Given the description of an element on the screen output the (x, y) to click on. 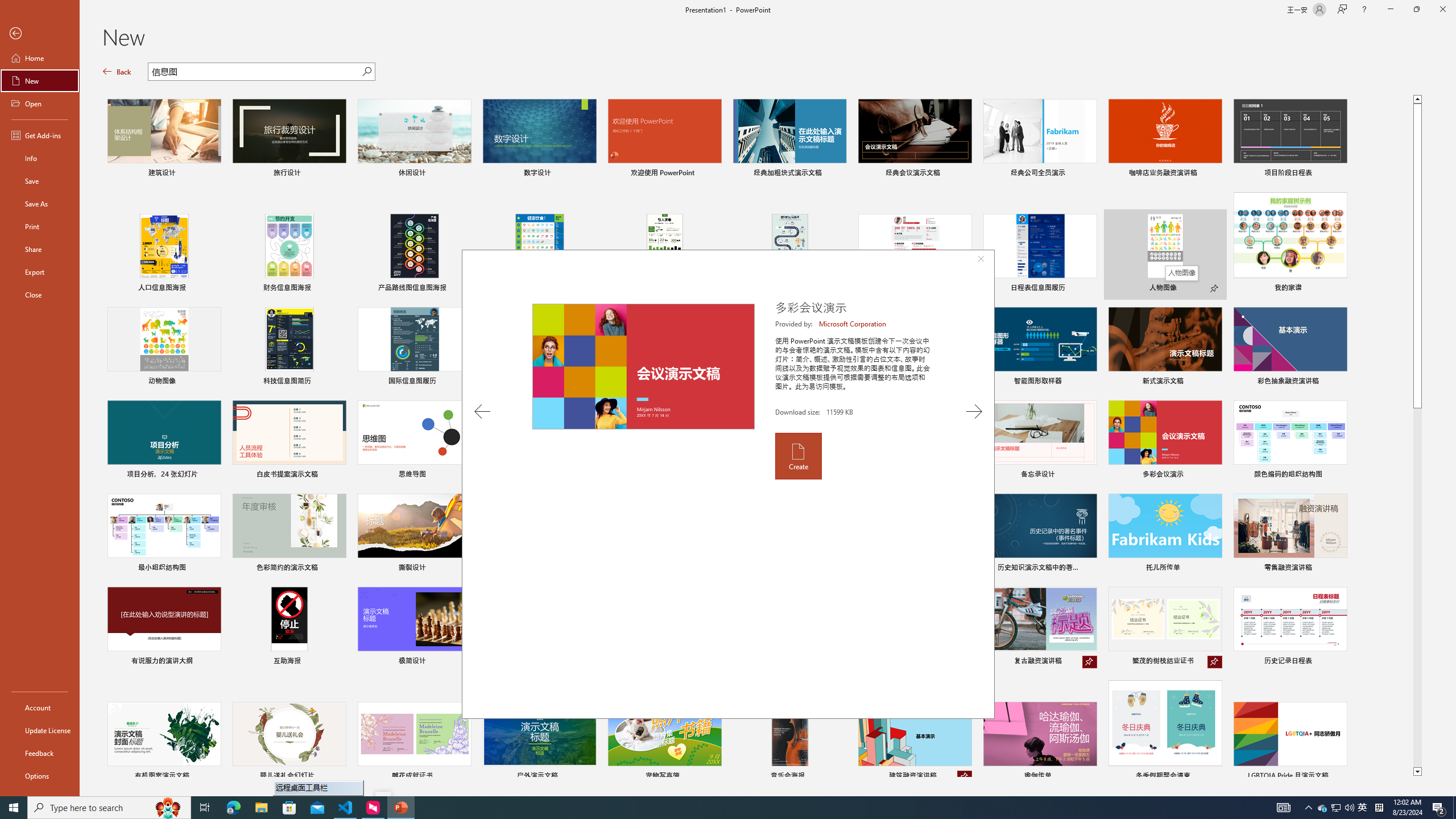
New (40, 80)
Print (40, 225)
